Given the description of an element on the screen output the (x, y) to click on. 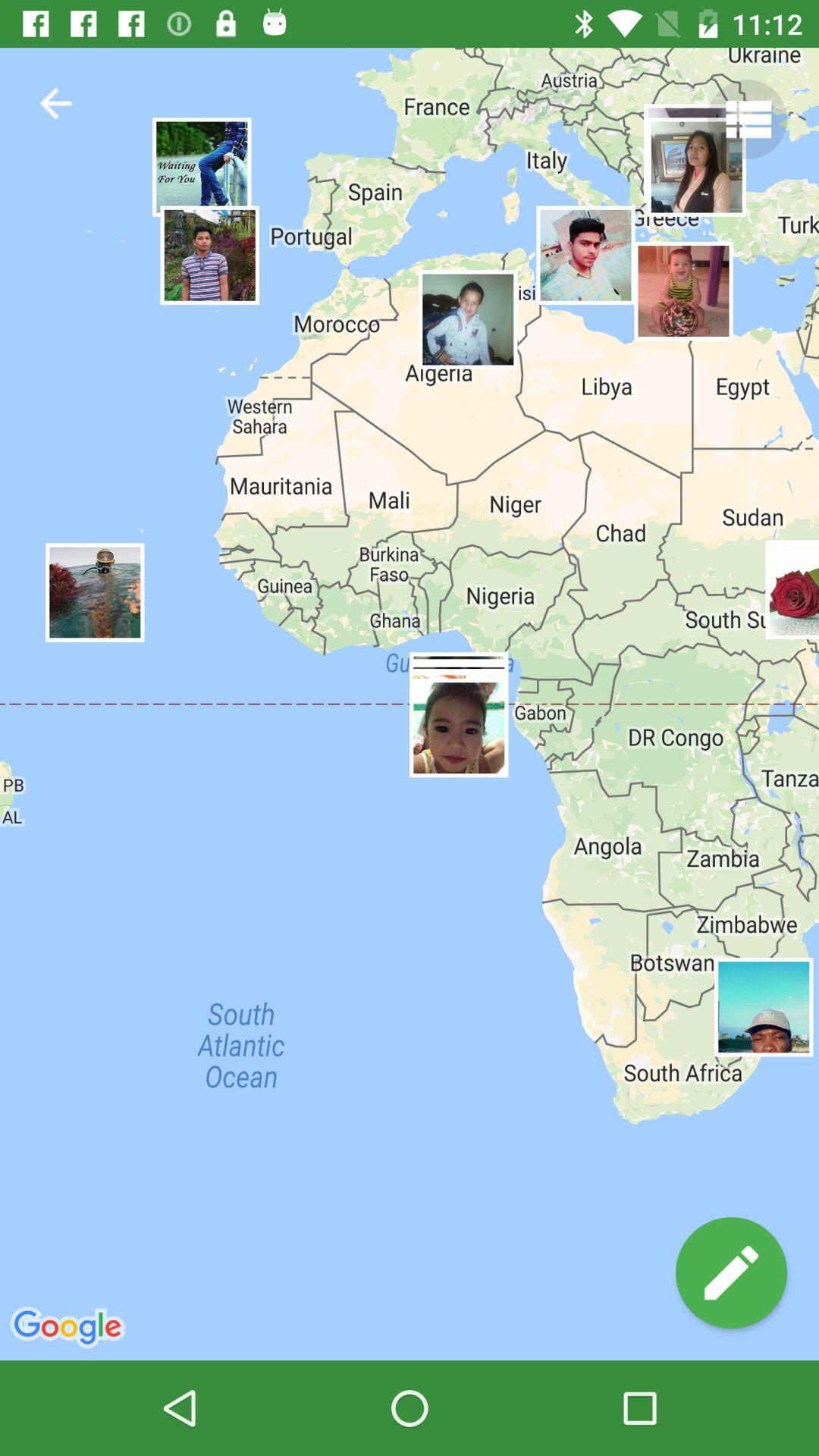
previous page (55, 103)
